Given the description of an element on the screen output the (x, y) to click on. 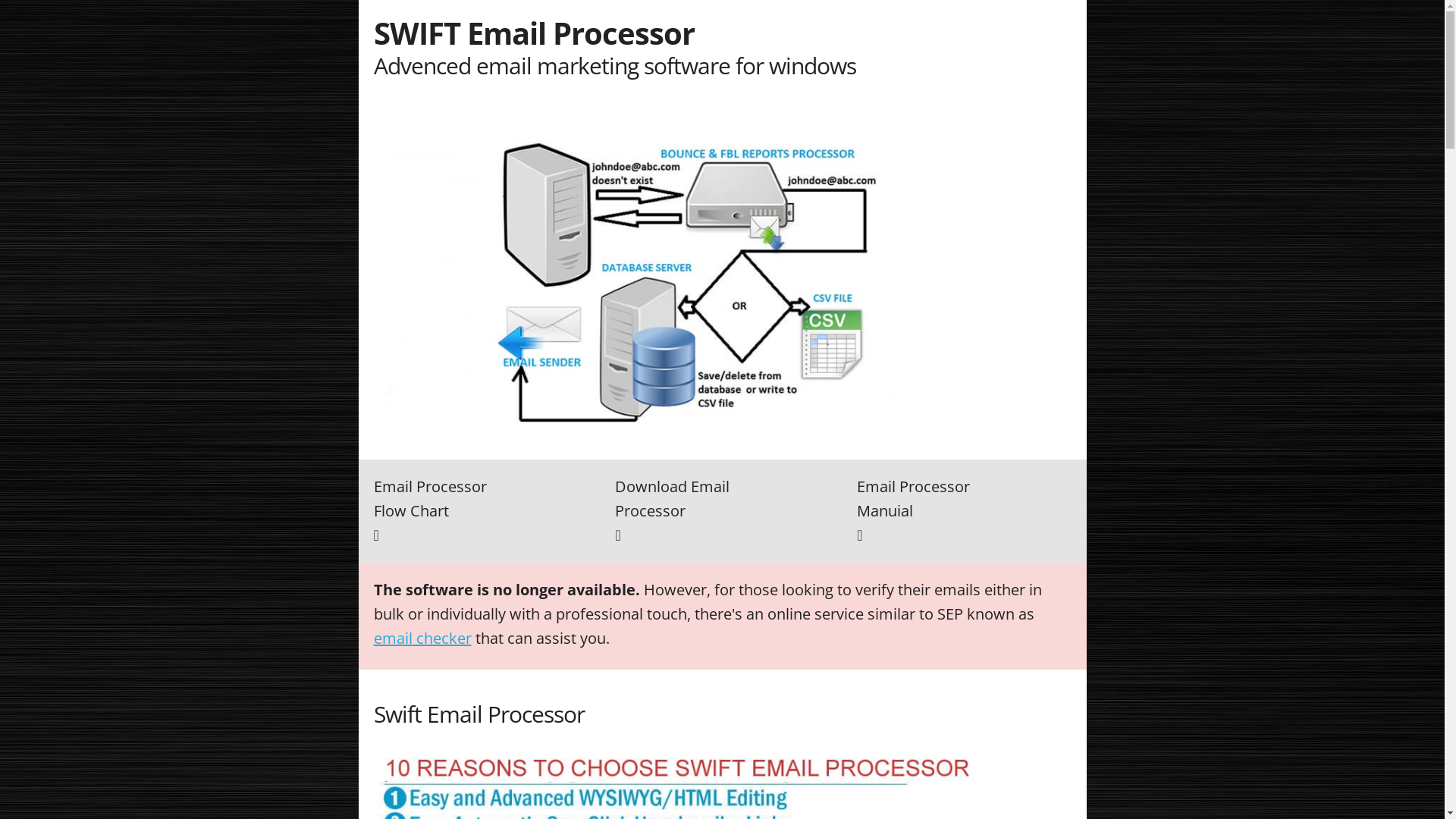
email checker Element type: text (421, 637)
